Given the description of an element on the screen output the (x, y) to click on. 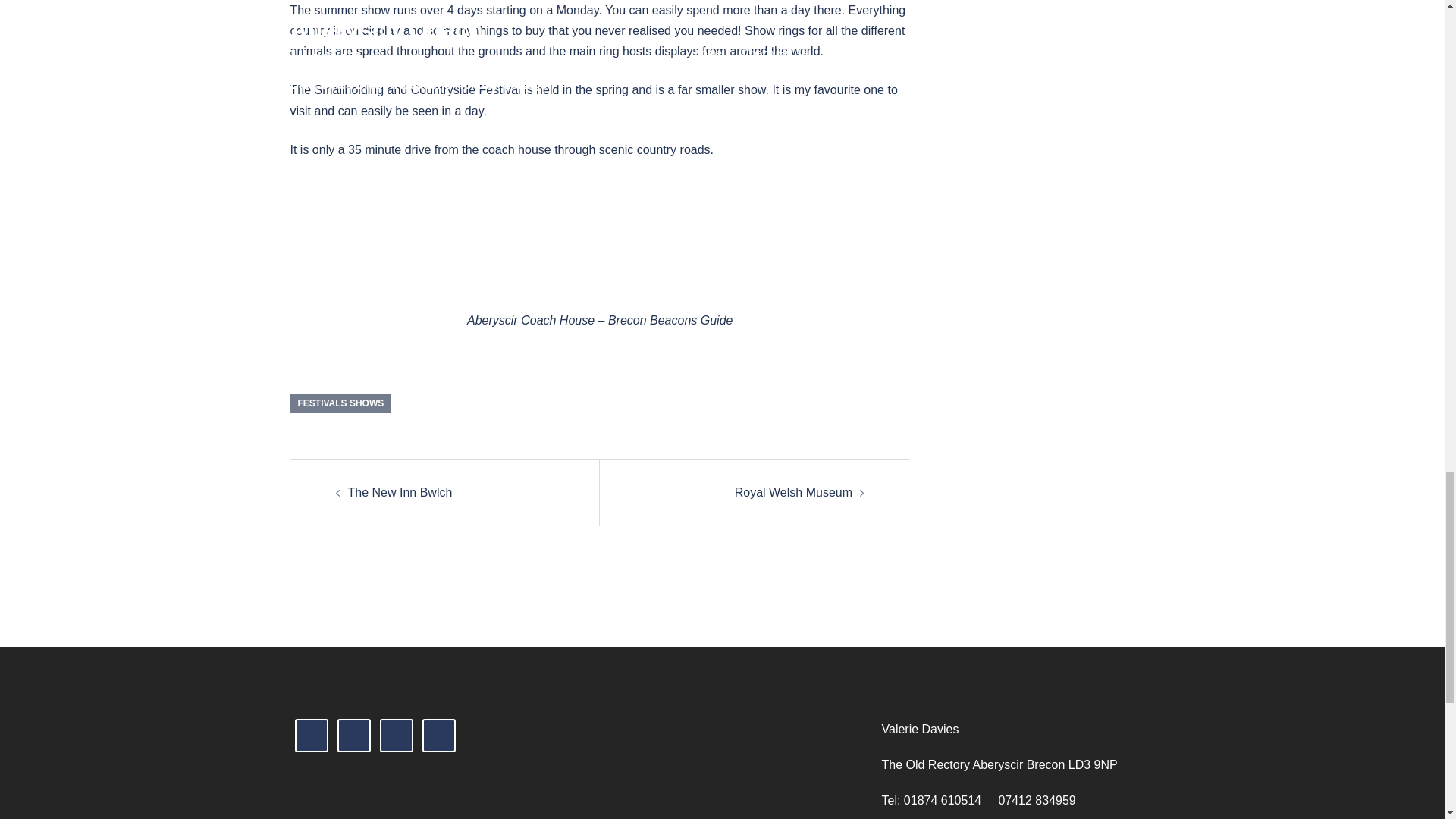
The New Inn Bwlch (399, 492)
Royal Welsh Museum (793, 492)
FESTIVALS SHOWS (340, 402)
